Given the description of an element on the screen output the (x, y) to click on. 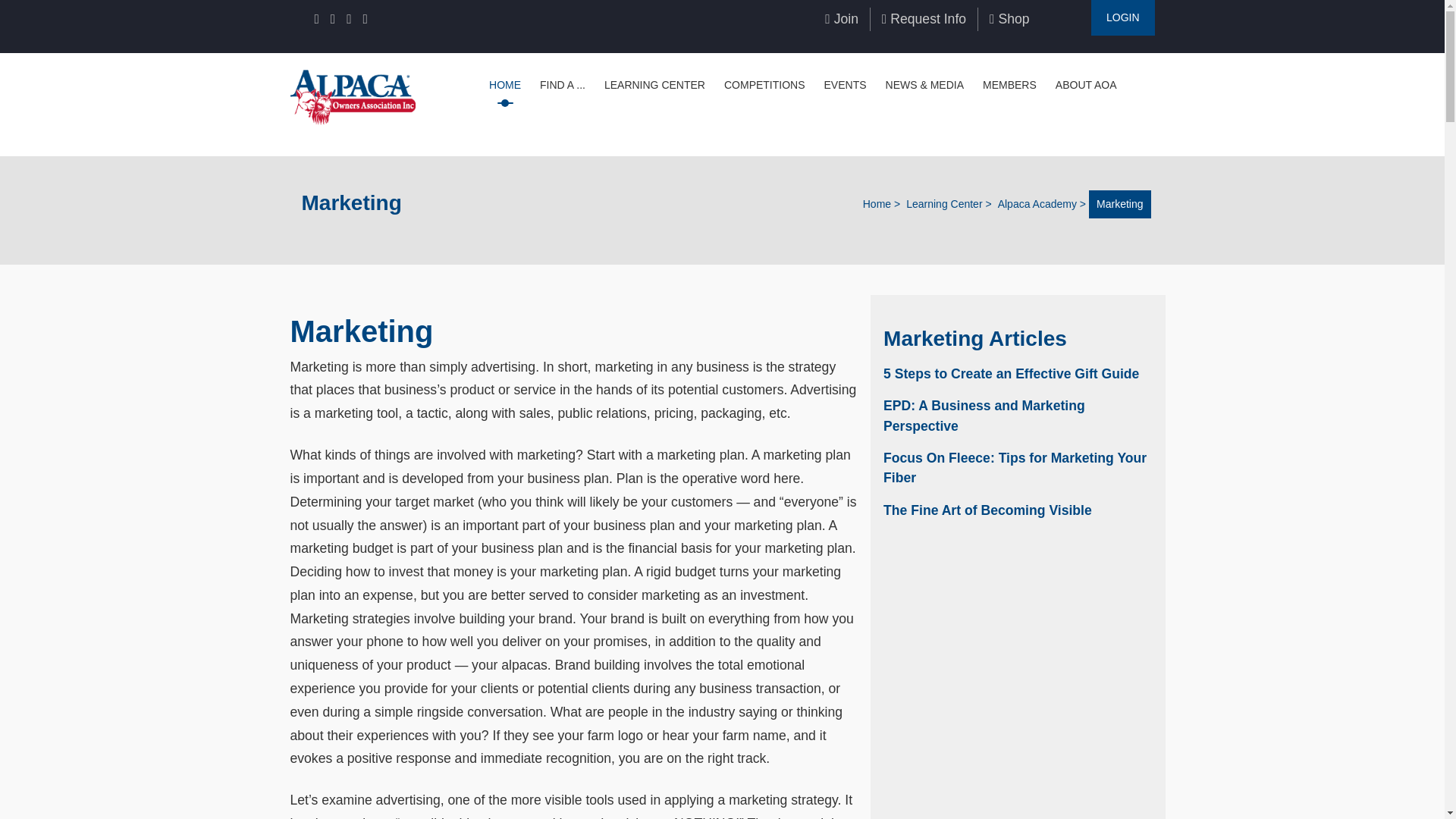
Join Alpaca Owners Association (842, 18)
LOGIN (1122, 18)
Alpaca Owners Association, Inc. (351, 95)
Member Dashboard (1122, 18)
Shop (1009, 18)
Request Info (924, 18)
Request Information on Alpacas (924, 18)
Join (842, 18)
